Given the description of an element on the screen output the (x, y) to click on. 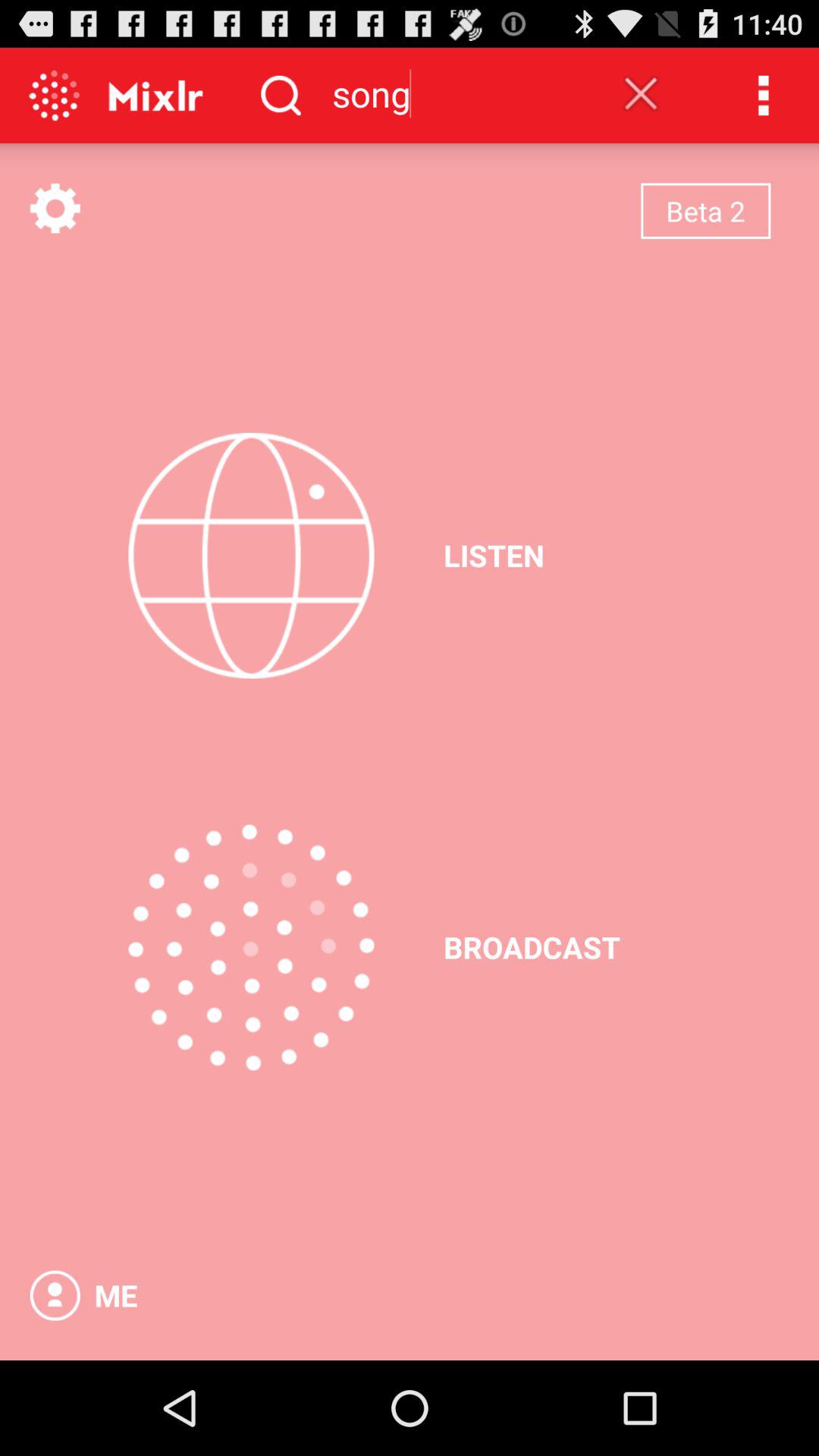
broadcast (251, 947)
